Given the description of an element on the screen output the (x, y) to click on. 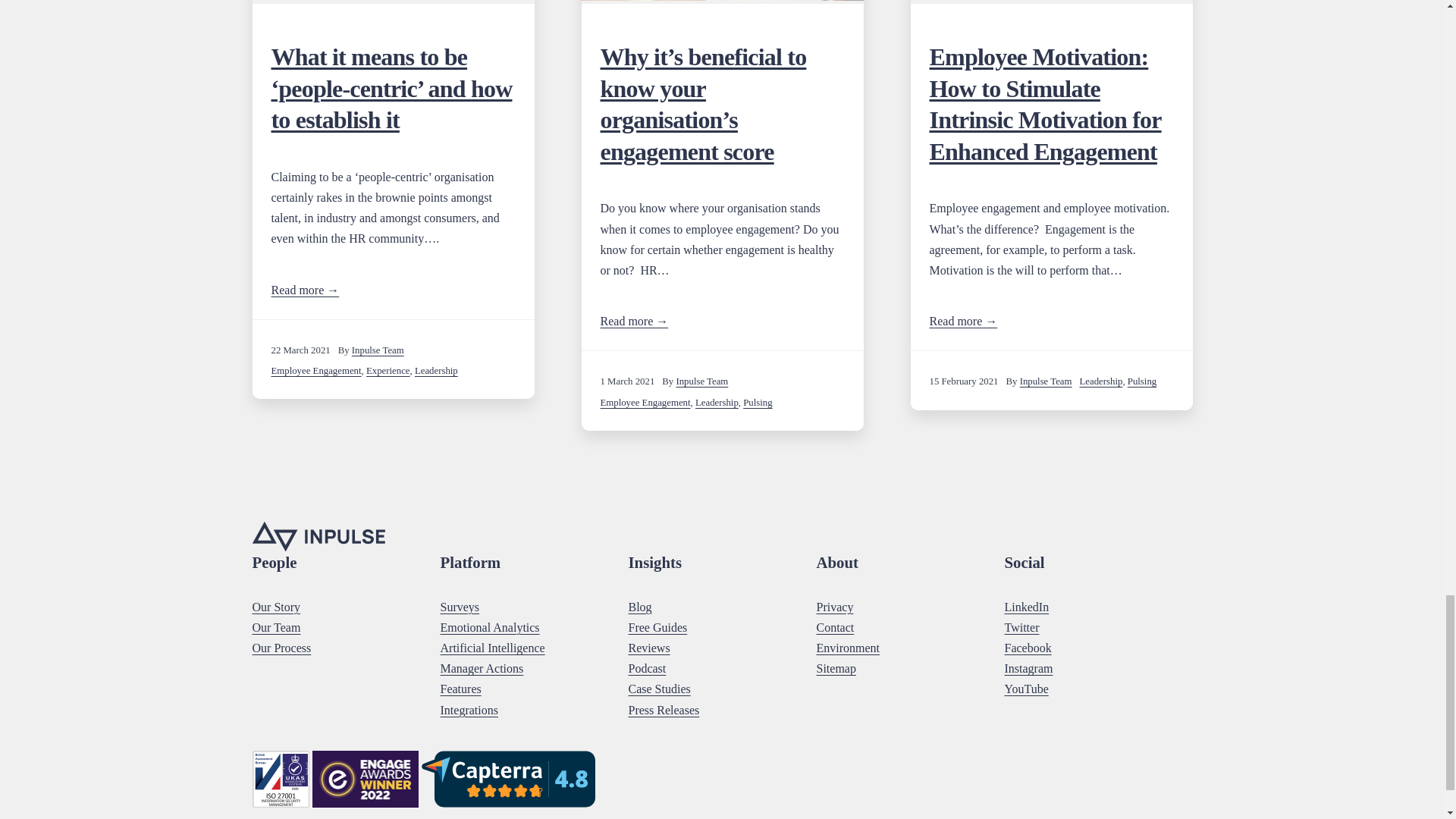
Leadership (716, 402)
Leadership (436, 370)
Employee Engagement (644, 402)
Employee Engagement (315, 370)
Inpulse Team (378, 349)
Experience (388, 370)
Inpulse Team (1045, 380)
Pulsing (756, 402)
Inpulse Team (701, 380)
